Given the description of an element on the screen output the (x, y) to click on. 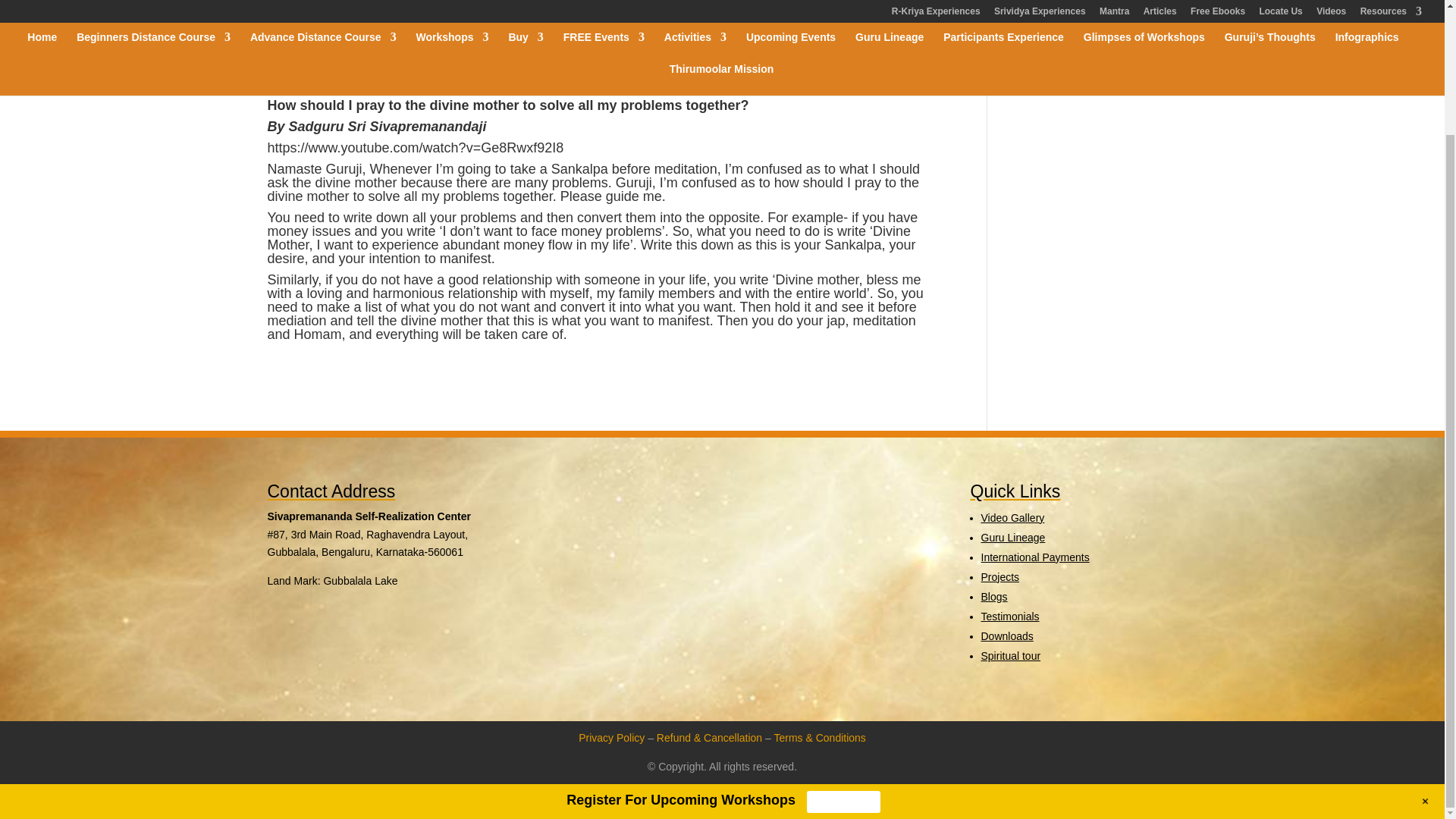
Posts by admin (295, 50)
